Given the description of an element on the screen output the (x, y) to click on. 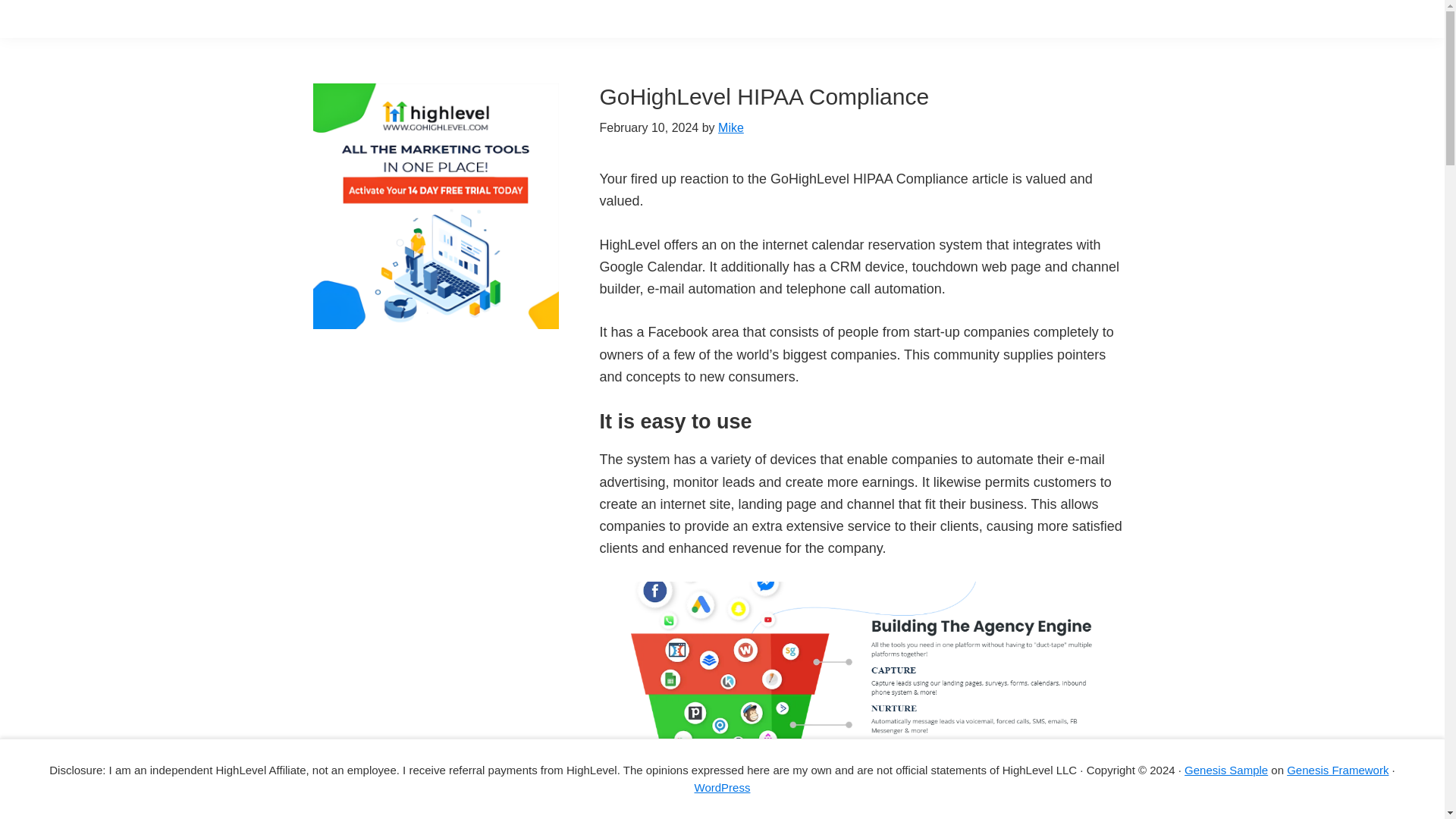
Genesis Sample (1226, 769)
Genesis Framework (1338, 769)
WordPress (722, 787)
Mike (730, 127)
